Given the description of an element on the screen output the (x, y) to click on. 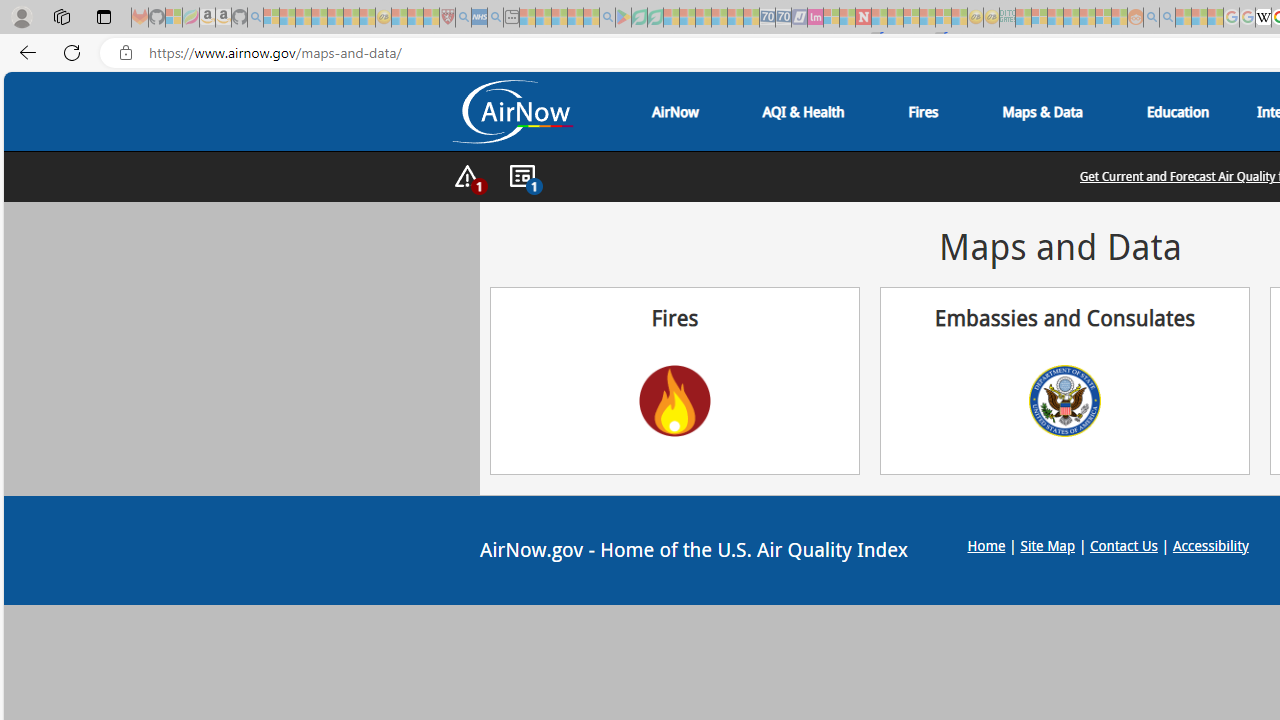
Target page - Wikipedia (1263, 17)
Air Now Logo (512, 111)
AutomationID: nav-alerts-toggle (467, 177)
Fire Icon (674, 400)
